Given the description of an element on the screen output the (x, y) to click on. 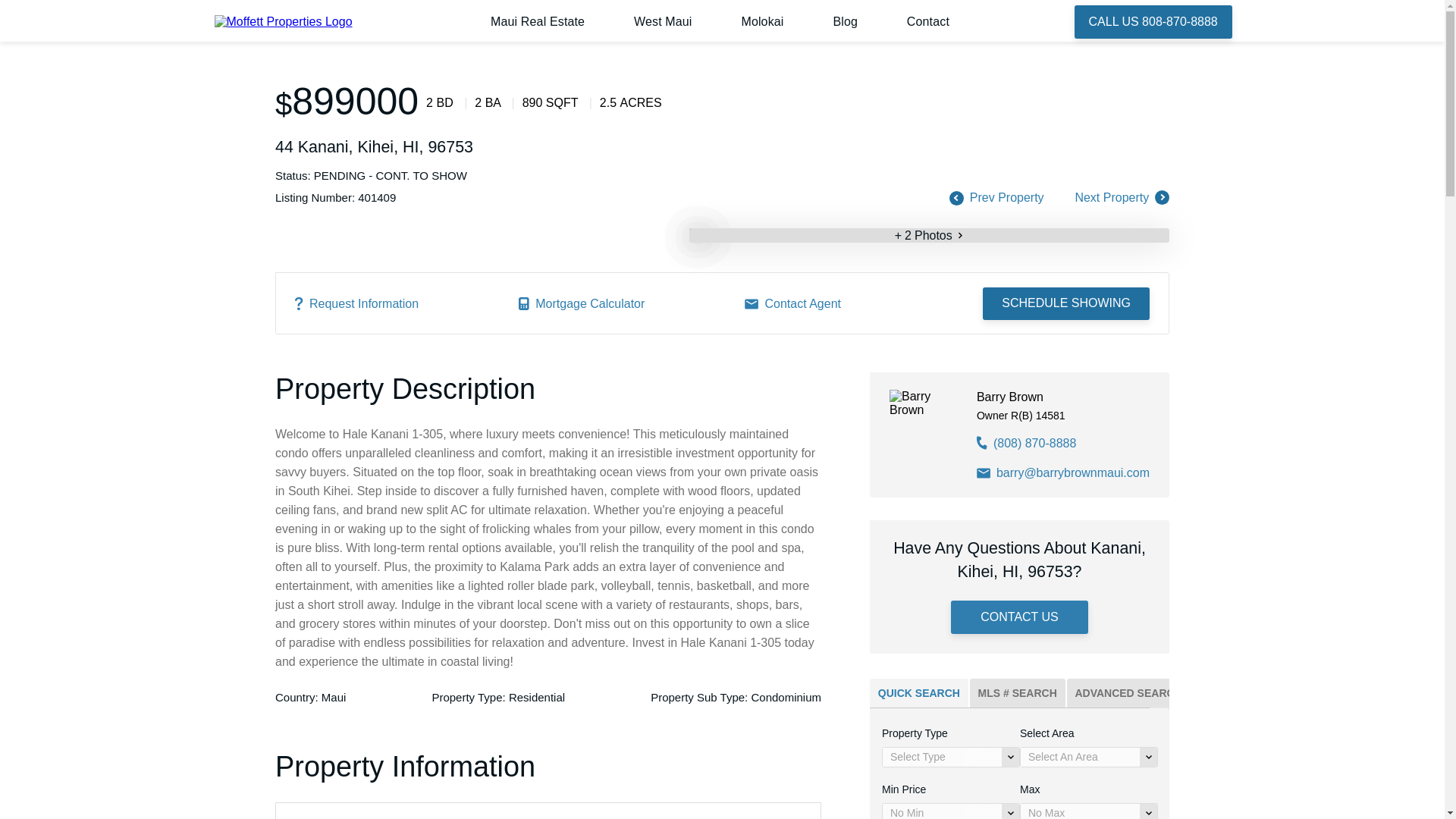
Prev Property (1005, 197)
West Maui (663, 21)
Blog (844, 21)
CALL US 808-870-8888 (1152, 21)
Molokai (762, 21)
QUICK SEARCH (918, 692)
SCHEDULE SHOWING (1066, 304)
Contact Agent (792, 303)
Request Information (357, 303)
Next Property (1112, 197)
